Given the description of an element on the screen output the (x, y) to click on. 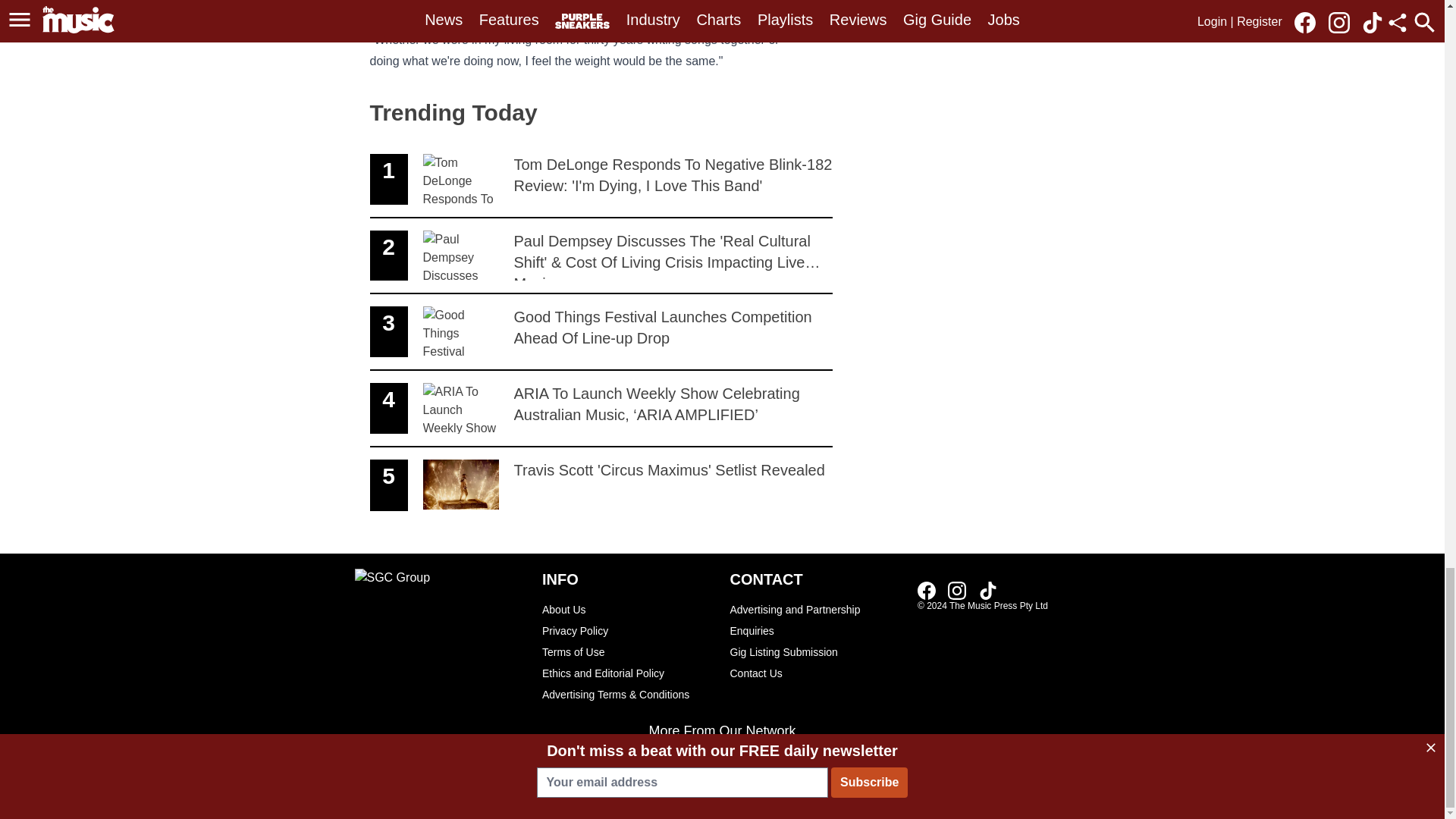
Terms of Use (627, 651)
Gig Listing Submission (815, 651)
Link to our Facebook (600, 485)
Advertising and Partnership Enquiries (930, 589)
Ethics and Editorial Policy (815, 619)
Privacy Policy (627, 672)
Link to our Facebook (627, 630)
Contact Us (926, 590)
Link to our Instagram (815, 672)
About Us (956, 590)
Link to our TikTok (627, 608)
